Given the description of an element on the screen output the (x, y) to click on. 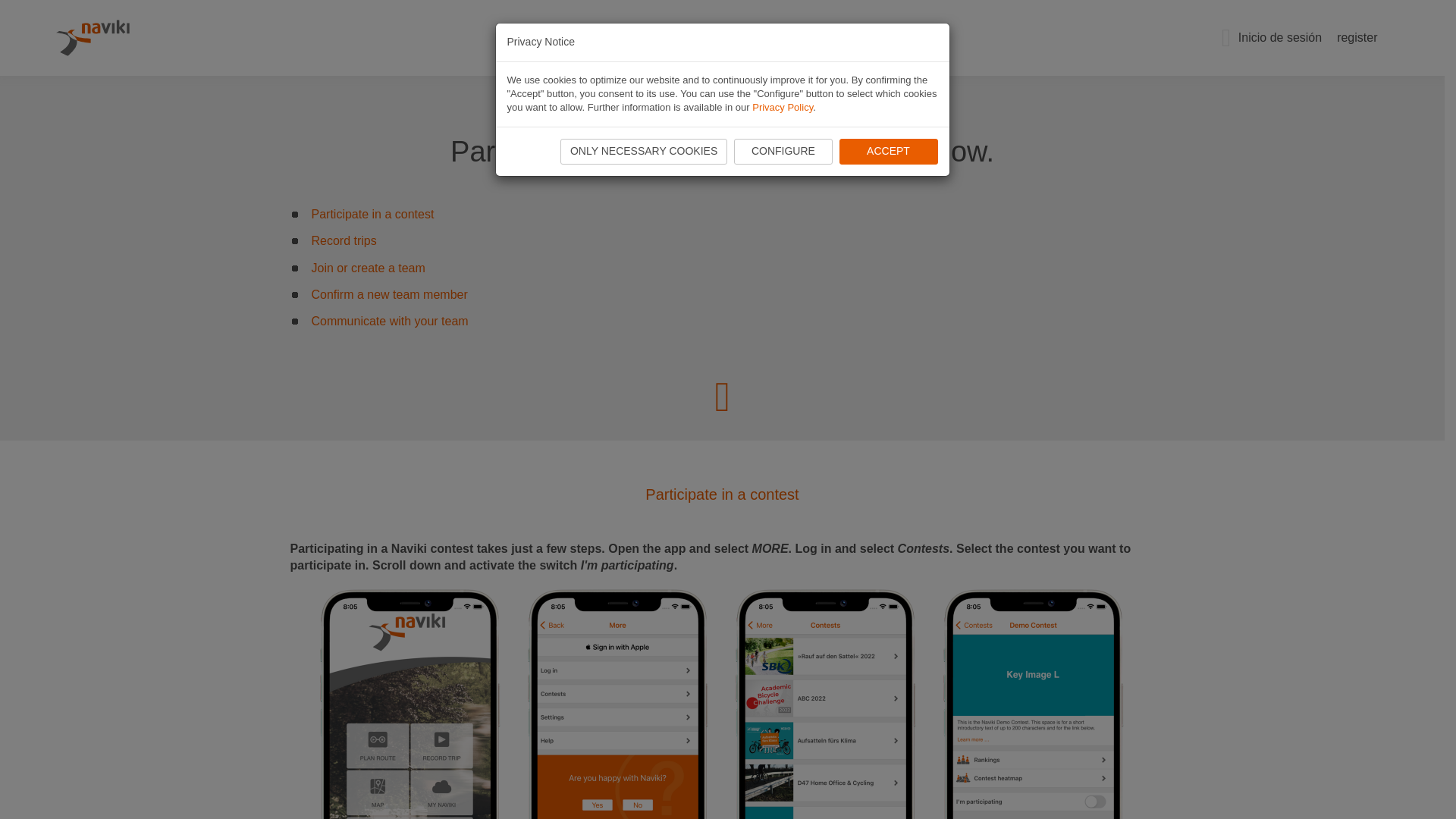
Join or create a team (368, 267)
register (1353, 37)
ACERCA DA NAVIKI (837, 37)
Communicate with your team (389, 320)
Confirm a new team member (389, 294)
Record trips (343, 240)
Participate in a contest (372, 214)
PLAN DE RUTA (591, 37)
